Given the description of an element on the screen output the (x, y) to click on. 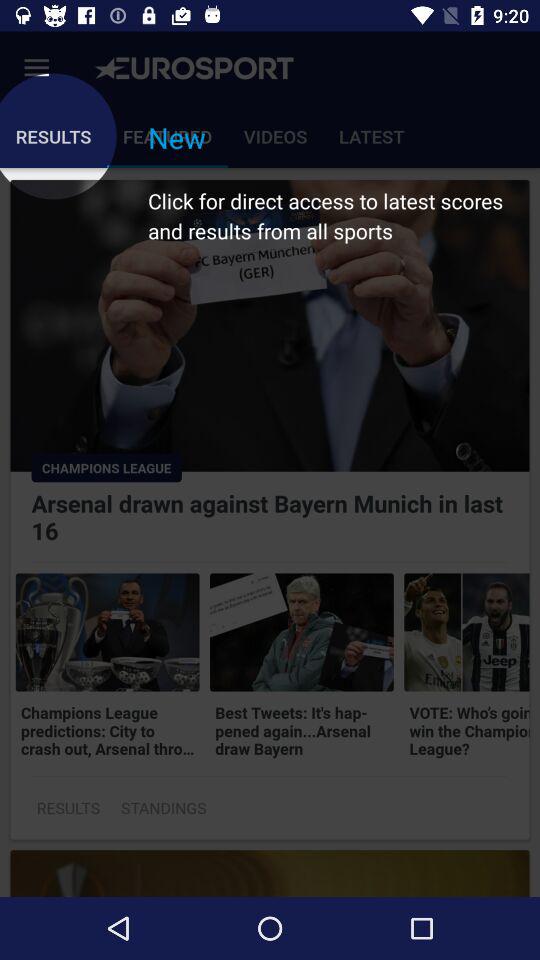
click on the last image (466, 632)
select the text right to results (164, 807)
